Given the description of an element on the screen output the (x, y) to click on. 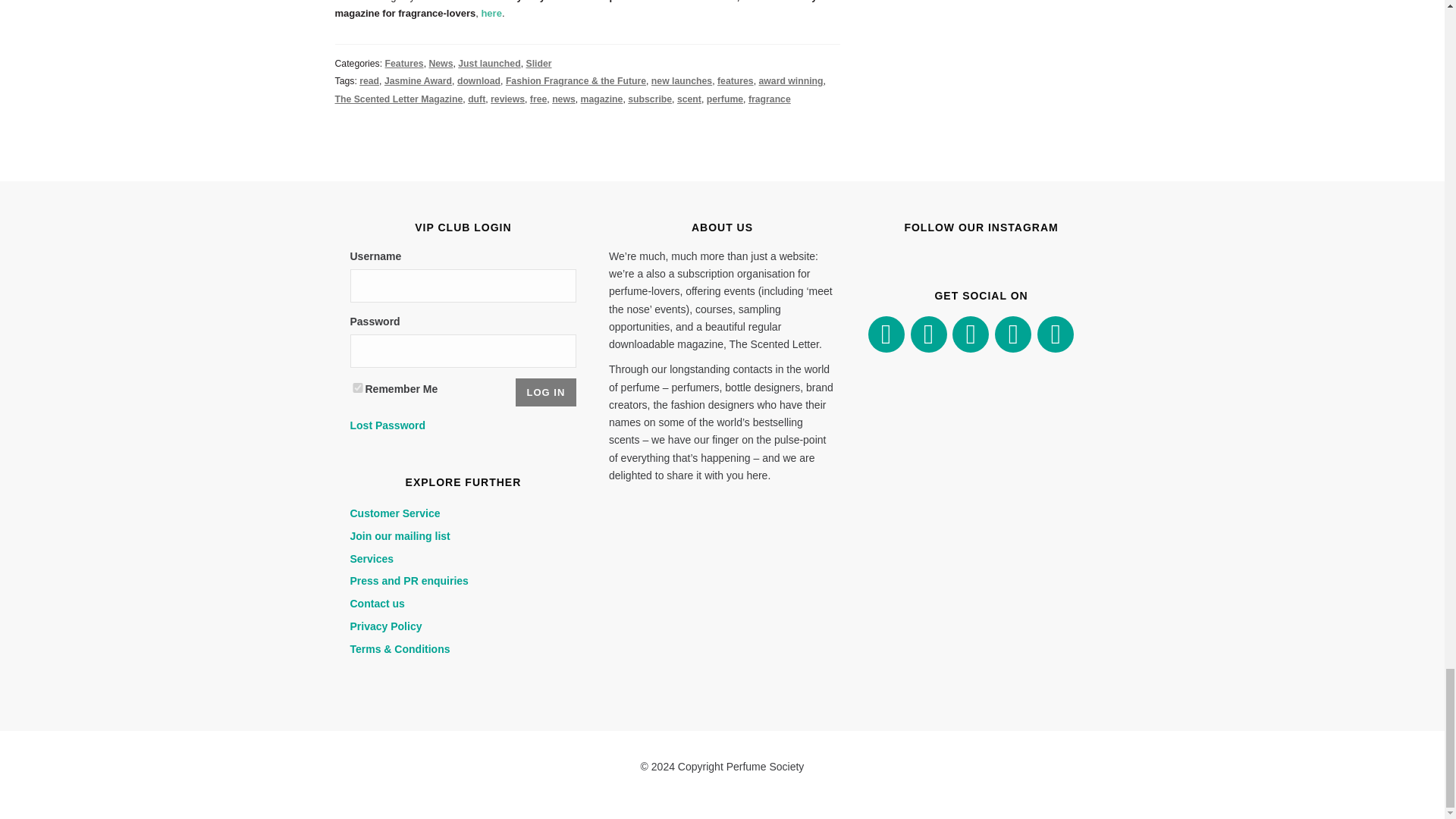
forever (357, 388)
Log In (545, 392)
